Given the description of an element on the screen output the (x, y) to click on. 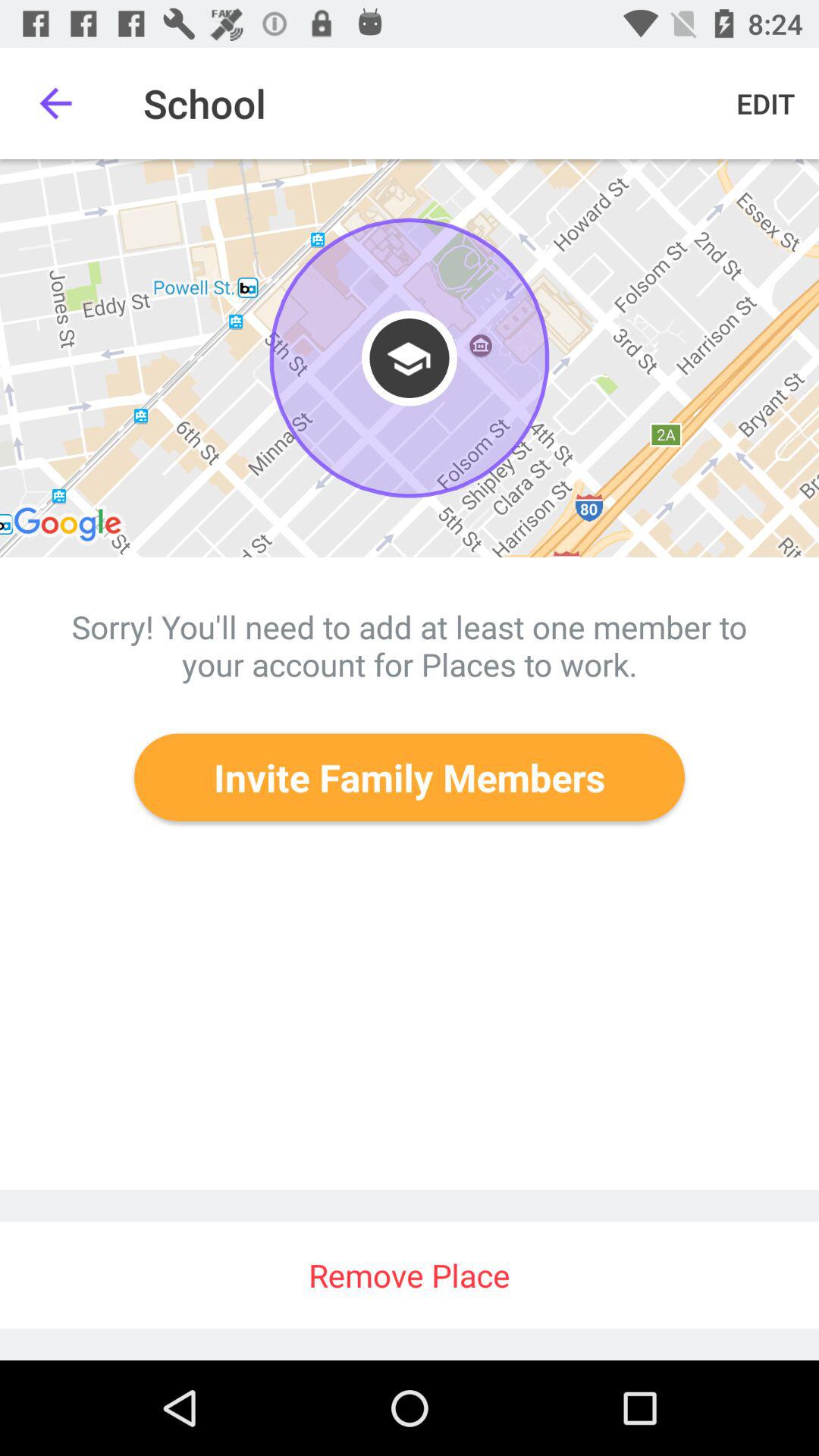
scroll to the invite family members icon (409, 777)
